Given the description of an element on the screen output the (x, y) to click on. 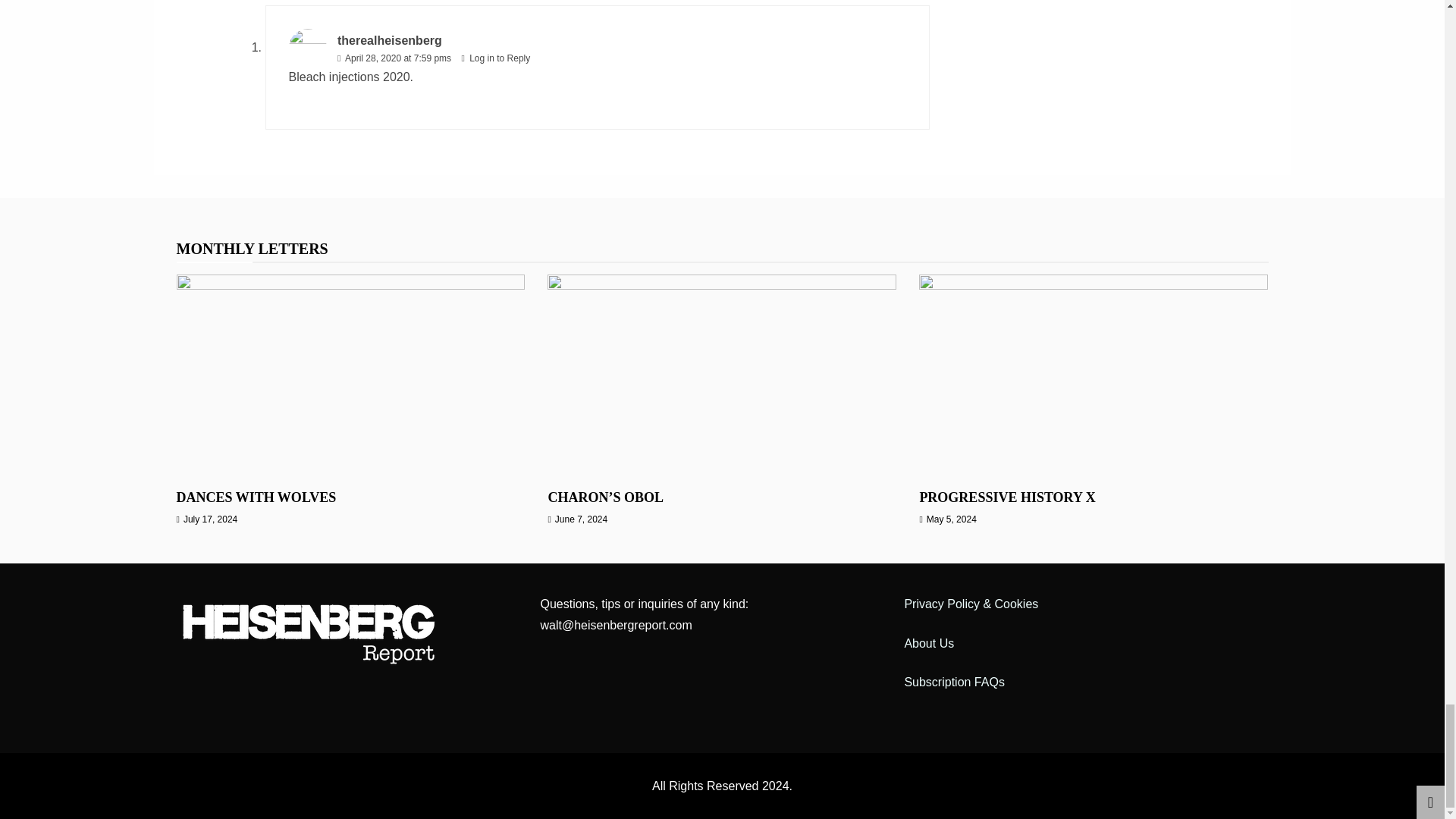
Log in to Reply (498, 58)
April 28, 2020 at 7:59 pms (396, 58)
